Given the description of an element on the screen output the (x, y) to click on. 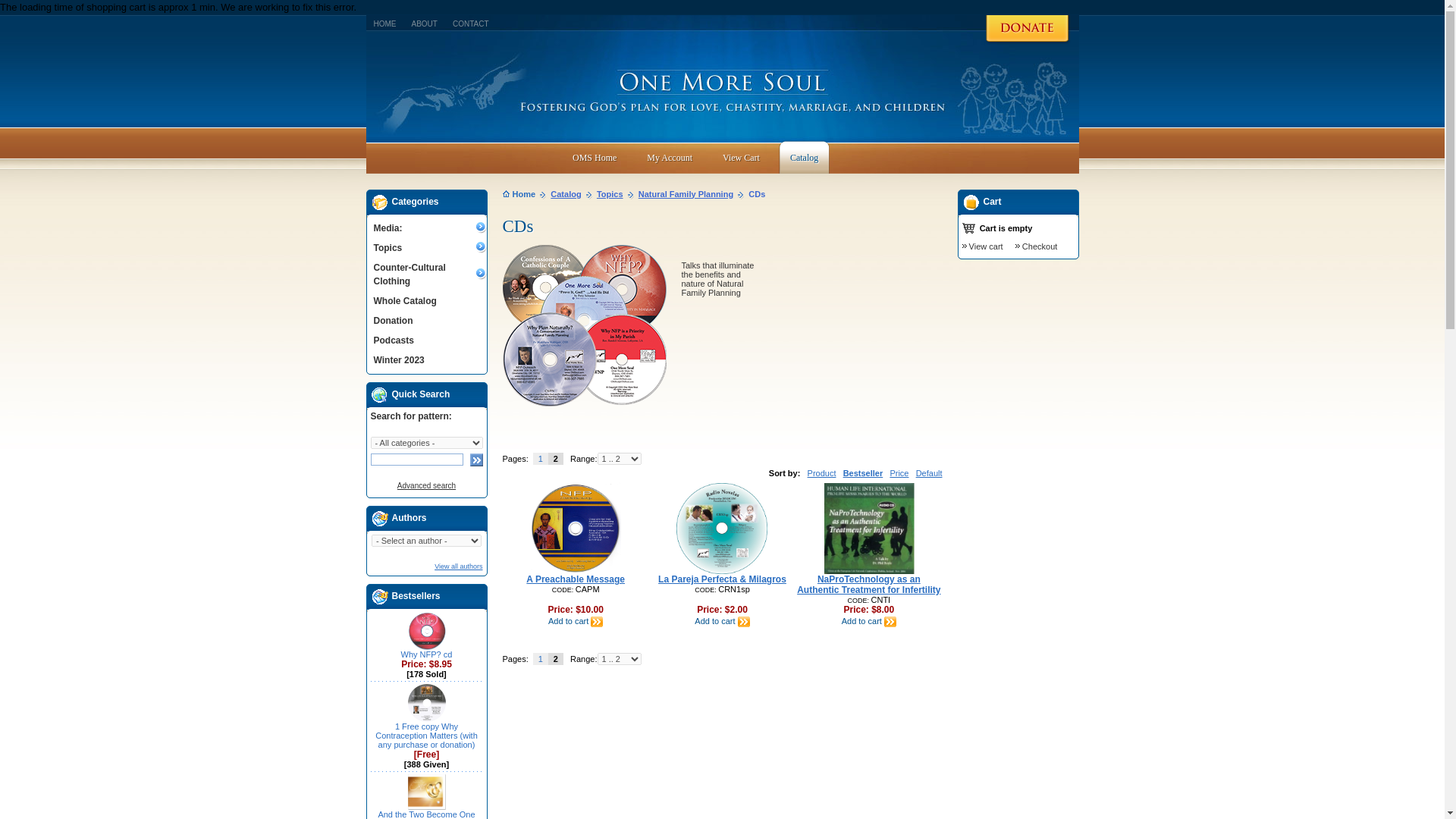
My Account (668, 156)
HOME (384, 21)
OMS Home (593, 156)
CONTACT (470, 21)
View Cart (741, 156)
ABOUT (423, 21)
Search (474, 459)
Media: (427, 228)
Catalog (803, 156)
